Given the description of an element on the screen output the (x, y) to click on. 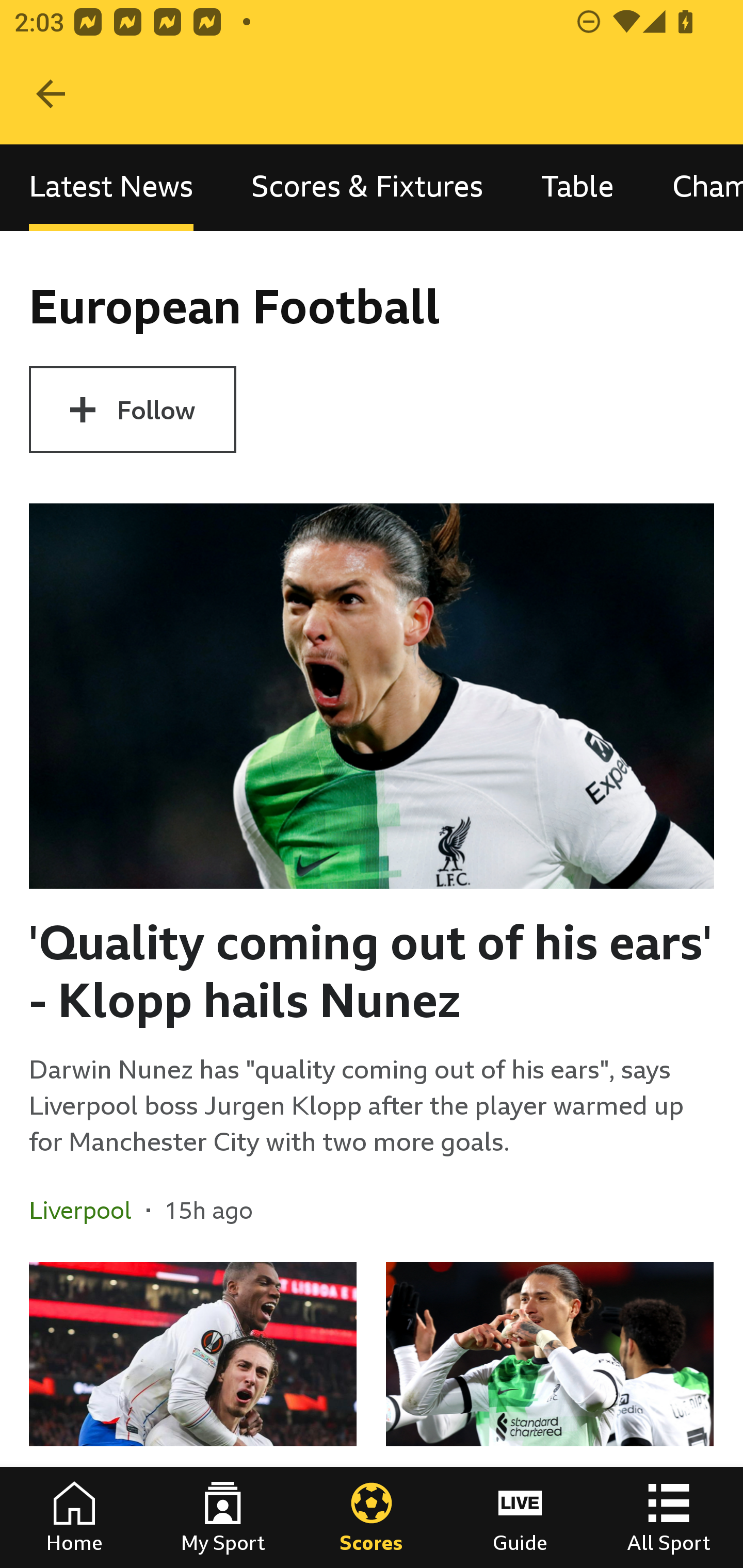
Navigate up (50, 93)
Latest News, selected Latest News (111, 187)
Scores & Fixtures (367, 187)
Table (577, 187)
Champions League (693, 187)
Follow European Football Follow (132, 409)
Liverpool In the section Liverpool (87, 1209)
Rangers pegged back twice in thriller at Benfica (192, 1415)
Nunez hits double as Liverpool cruise to victory (549, 1415)
Home (74, 1517)
My Sport (222, 1517)
Guide (519, 1517)
All Sport (668, 1517)
